Given the description of an element on the screen output the (x, y) to click on. 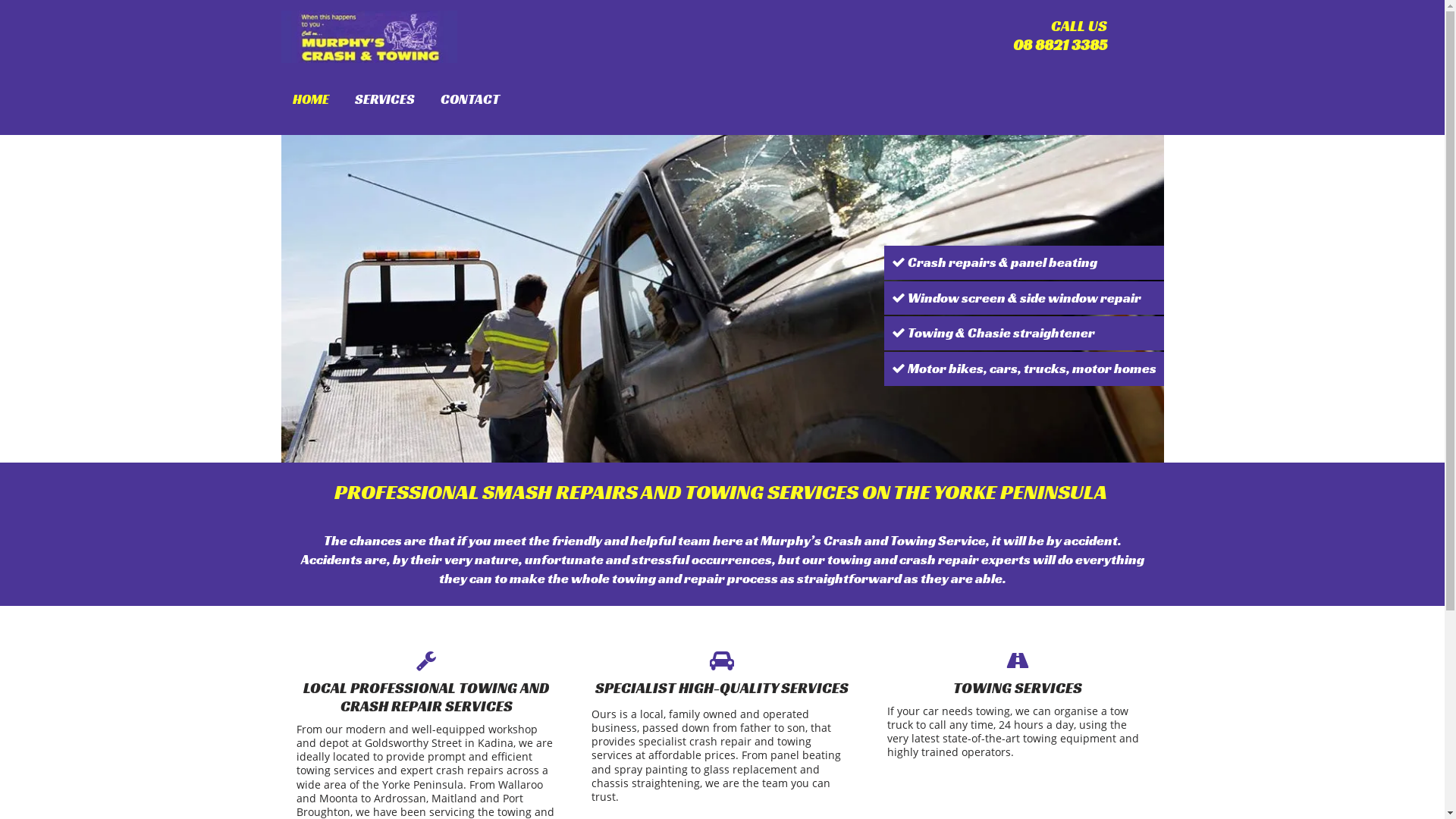
CONTACT Element type: text (468, 99)
SERVICES Element type: text (384, 99)
HOME Element type: text (310, 99)
08 8821 3385 Element type: text (1060, 44)
murphy-crash-towing-logo Element type: hover (368, 36)
tow-truck-picking-up-a-crached-car Element type: hover (721, 298)
